Given the description of an element on the screen output the (x, y) to click on. 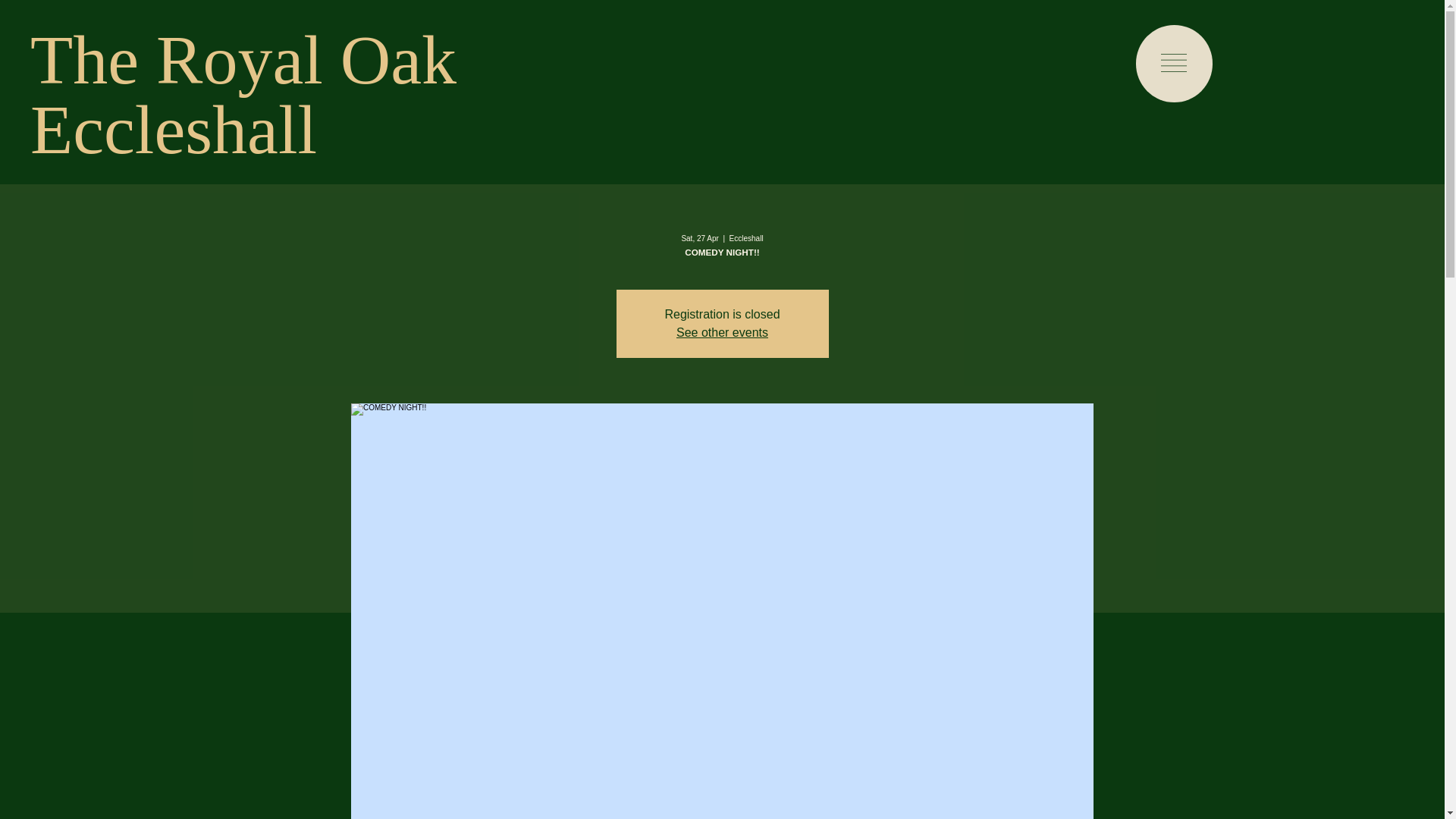
The Royal Oak (243, 59)
See other events (722, 332)
